Given the description of an element on the screen output the (x, y) to click on. 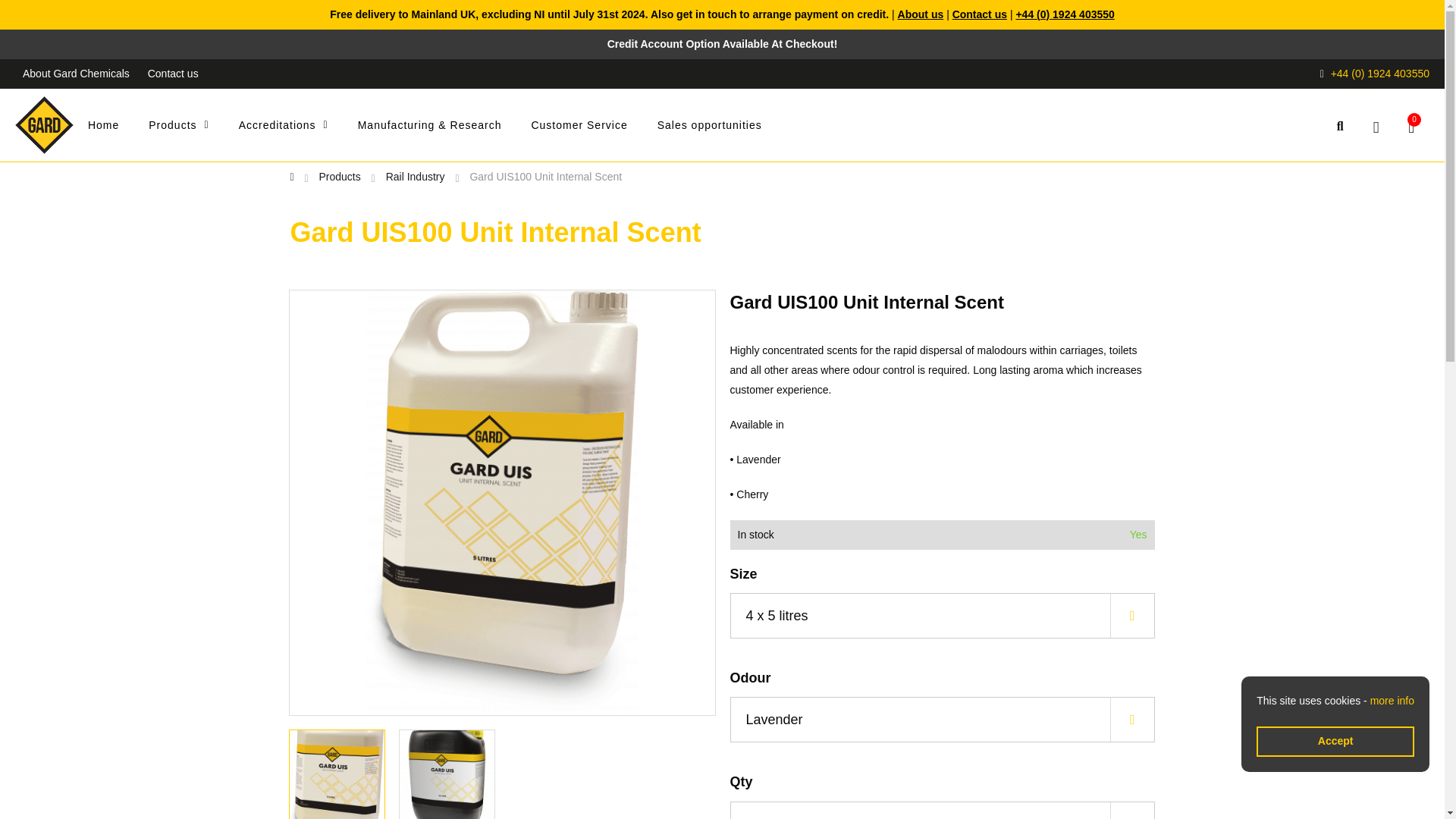
0 items in Basket (1411, 125)
Account (1376, 125)
Home (118, 125)
Customer Service (594, 125)
Products (193, 125)
Contact us (172, 74)
Accept (1334, 741)
Sales opportunities (725, 125)
About us (920, 14)
Contact us (979, 14)
more info (1391, 700)
0 (1411, 125)
Accreditations (298, 125)
About Gard Chemicals (75, 74)
